Given the description of an element on the screen output the (x, y) to click on. 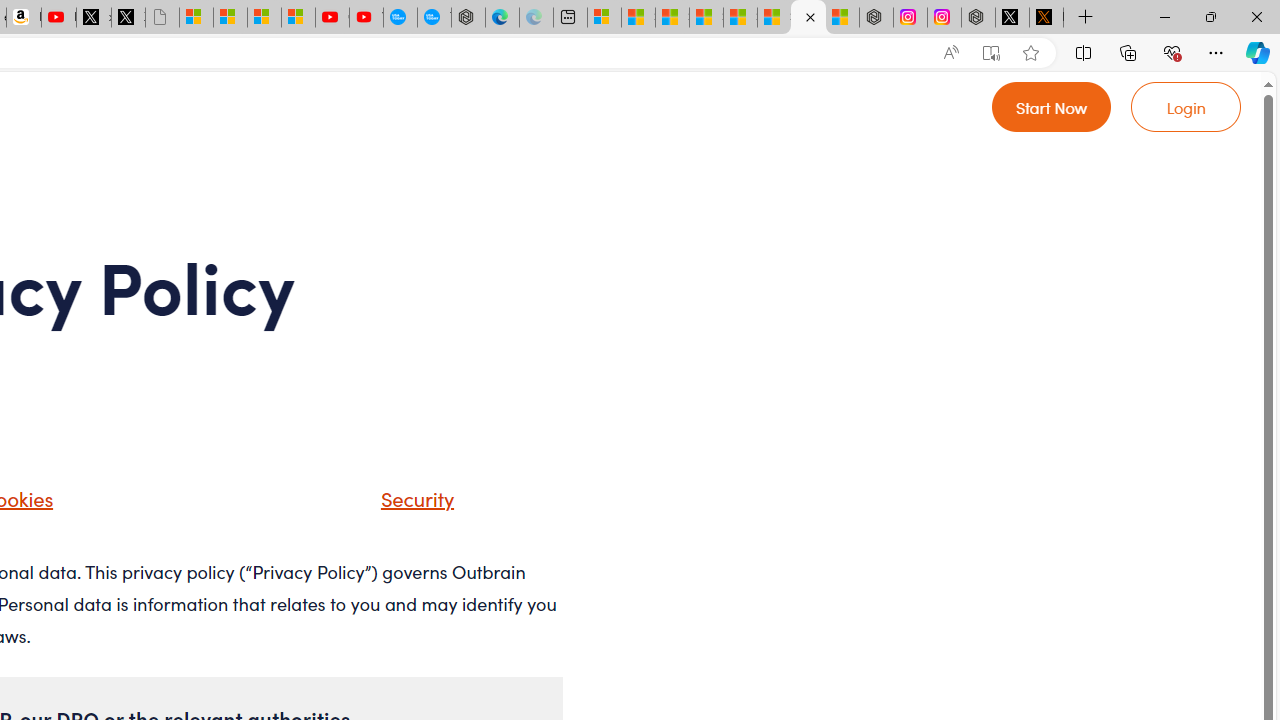
Security (392, 505)
Security (411, 497)
